Given the description of an element on the screen output the (x, y) to click on. 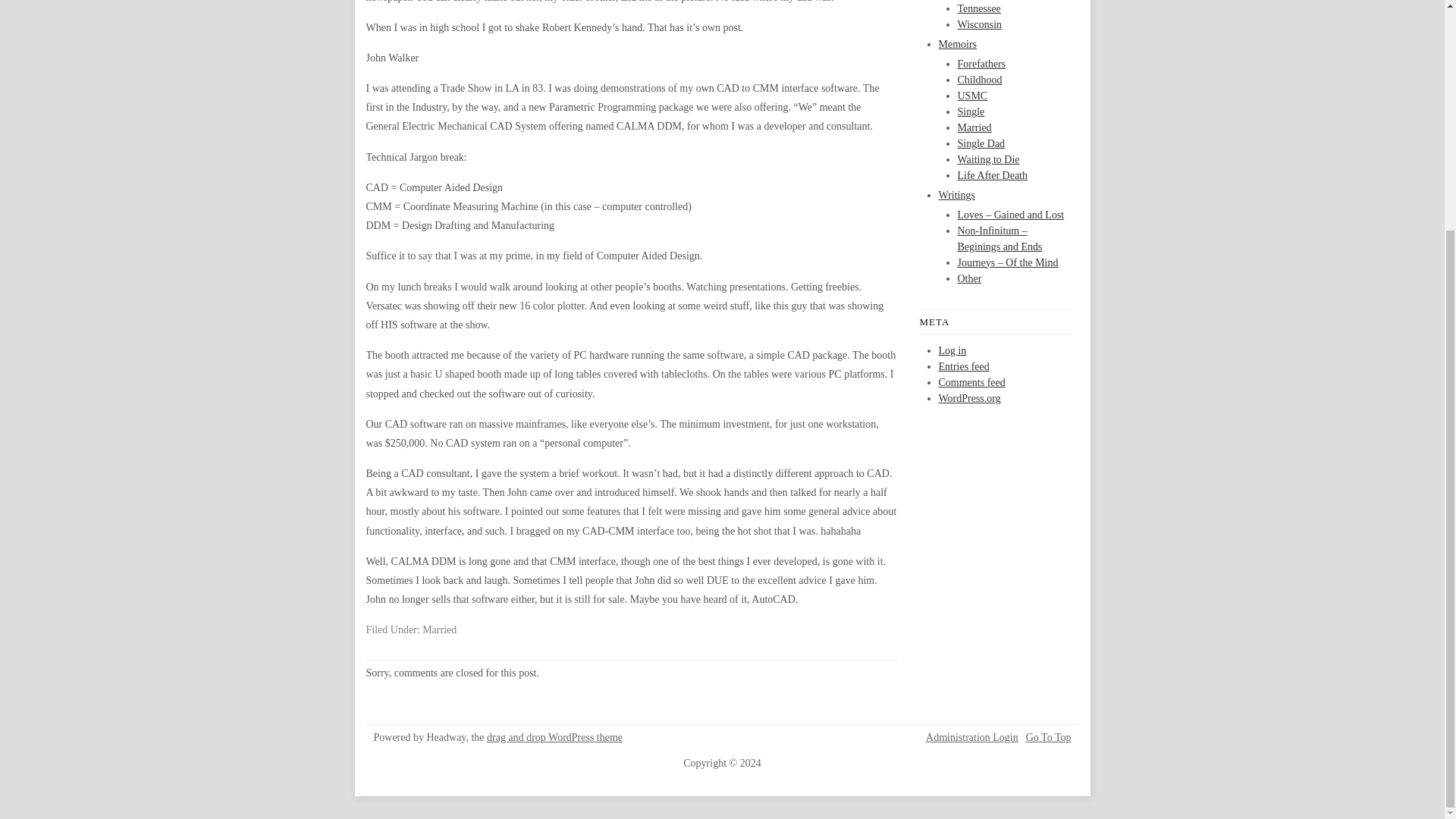
Memoirs (957, 43)
Life After Death (991, 174)
Married (973, 126)
Writings (957, 194)
Headway Premium WordPress Theme (554, 737)
Single (970, 111)
Entries feed (964, 366)
WordPress.org (970, 398)
Administration Login (971, 737)
Single Dad (980, 143)
drag and drop WordPress theme (554, 737)
Other (968, 278)
Married (439, 629)
Log in (952, 350)
Comments feed (972, 382)
